Given the description of an element on the screen output the (x, y) to click on. 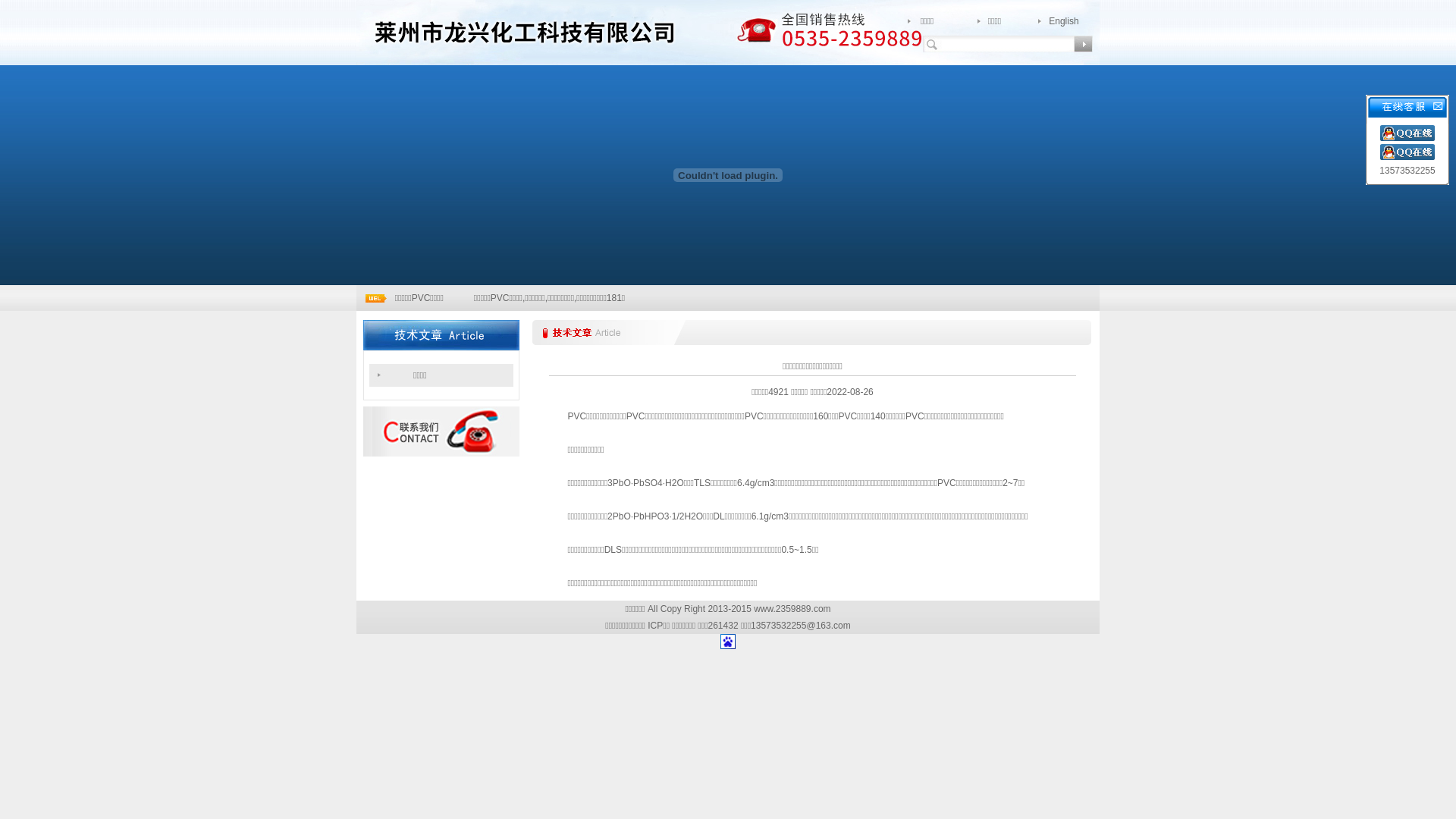
English Element type: text (1063, 20)
13573532255@163.com Element type: text (800, 625)
